Given the description of an element on the screen output the (x, y) to click on. 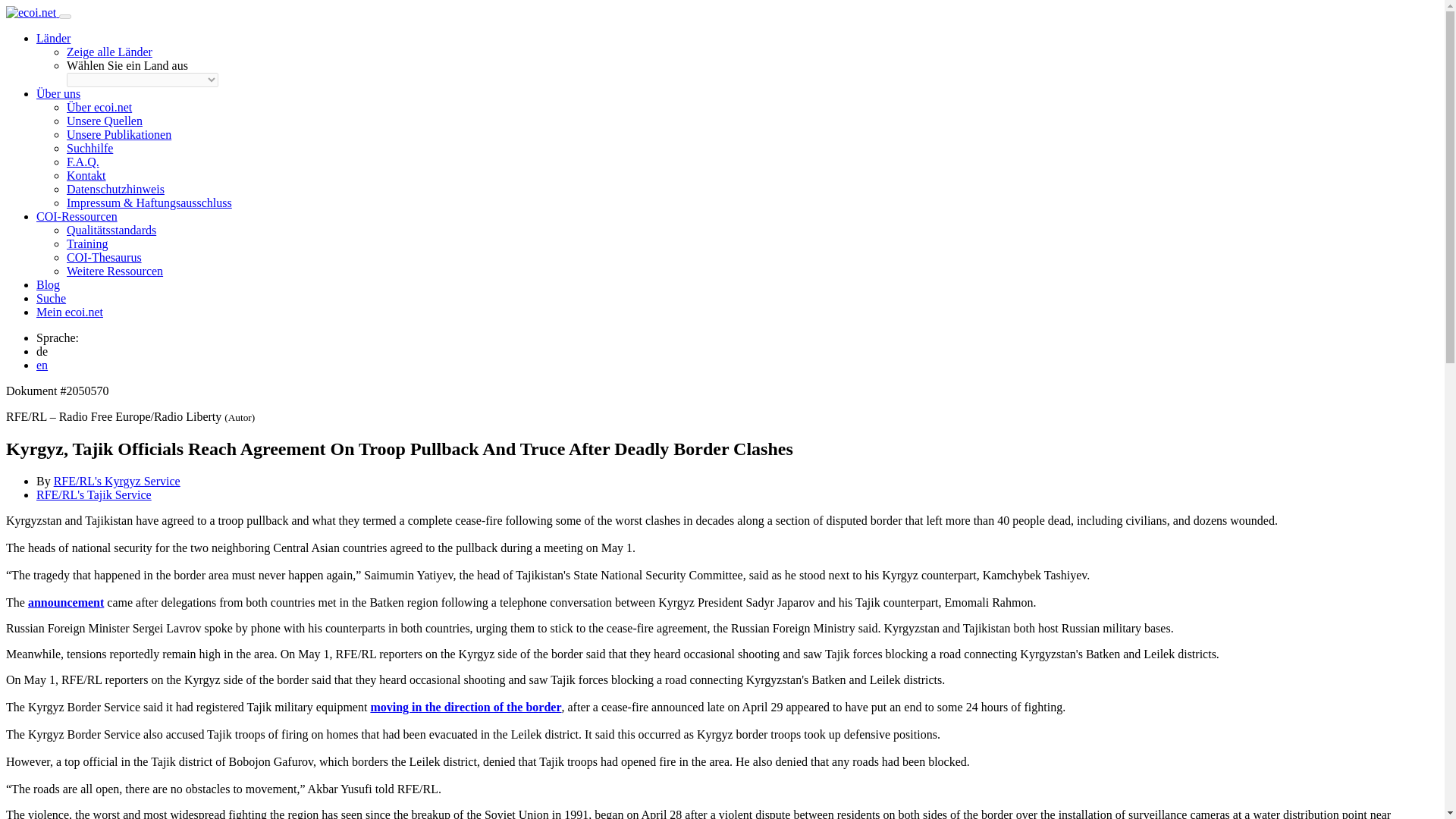
COI-Thesaurus (103, 256)
Suche (50, 297)
COI-Ressourcen (76, 215)
Unsere Quellen (104, 120)
F.A.Q. (82, 161)
Training (86, 243)
Mein ecoi.net (69, 311)
Suchhilfe (89, 147)
Kontakt (86, 174)
Zur Startseite von ecoi.net gehen (32, 11)
moving in the direction of the border (464, 707)
Weitere Ressourcen (114, 270)
Blog (47, 284)
announcement (65, 602)
Unsere Publikationen (118, 133)
